Given the description of an element on the screen output the (x, y) to click on. 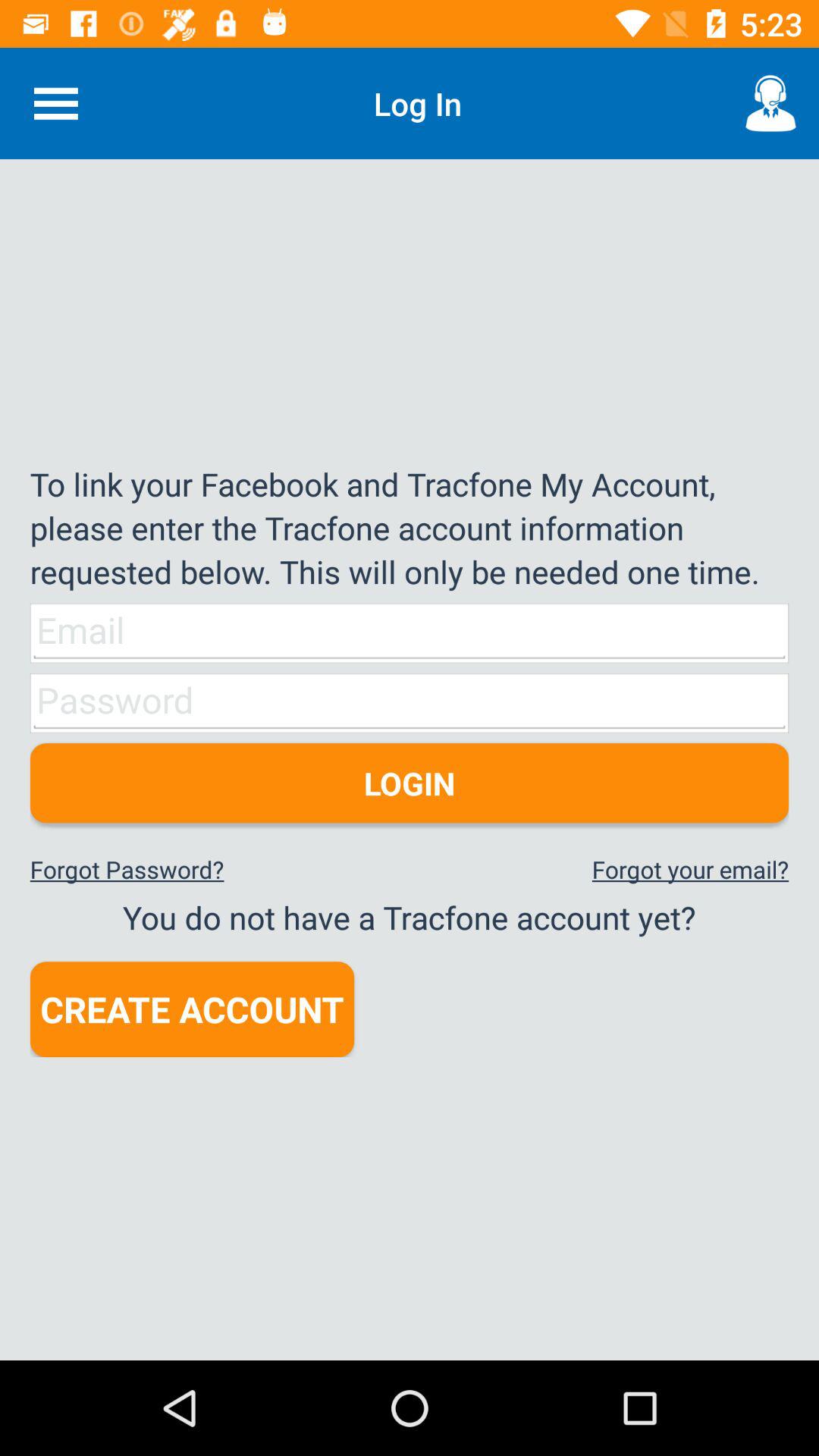
scroll until create account icon (192, 1009)
